Given the description of an element on the screen output the (x, y) to click on. 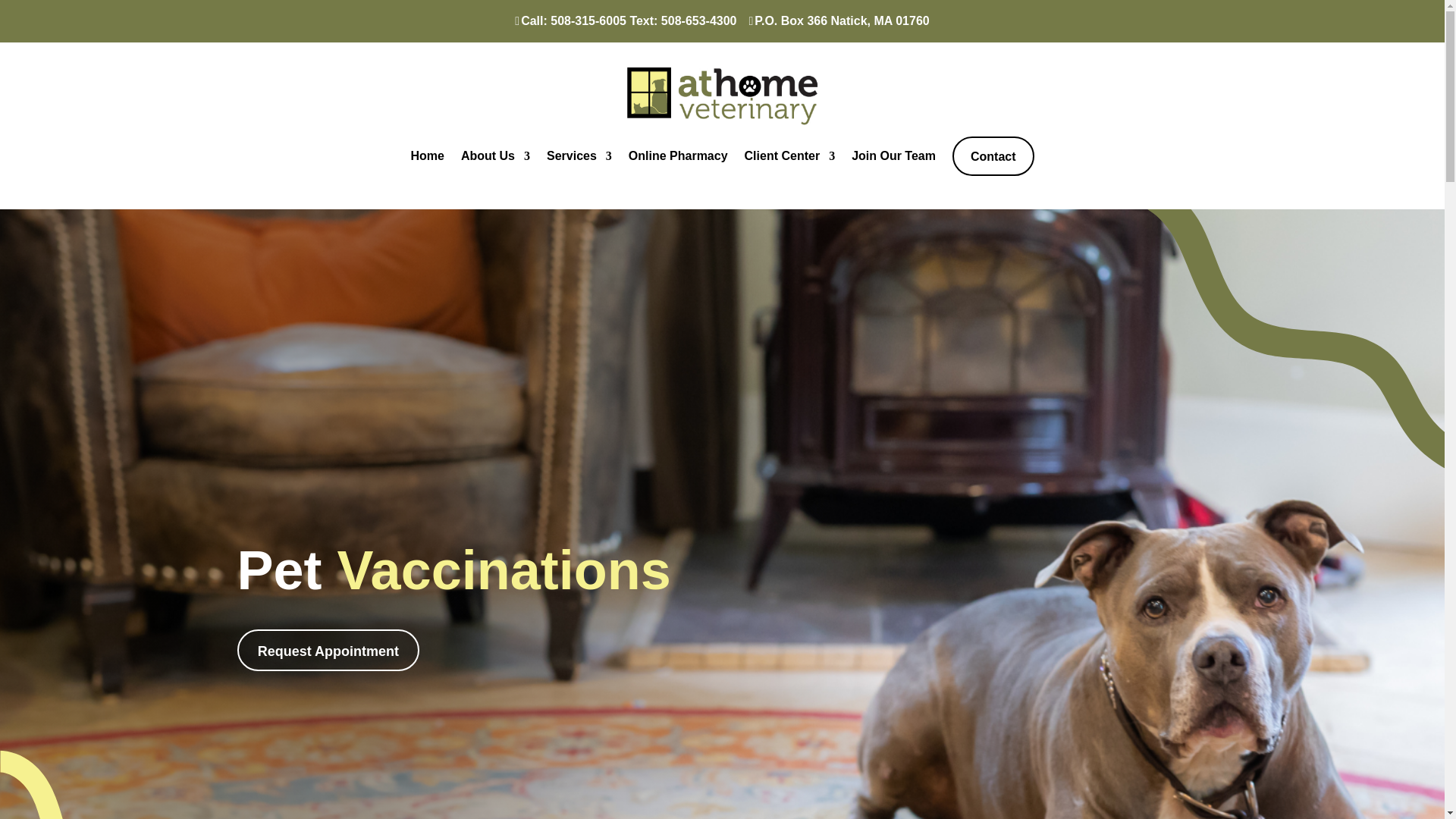
508-315-6005 (588, 20)
Client Center (789, 156)
Services (579, 156)
About Us (495, 156)
508-653-4300 (698, 20)
P.O. Box 366 Natick, MA 01760 (841, 20)
Online Pharmacy (678, 156)
